Given the description of an element on the screen output the (x, y) to click on. 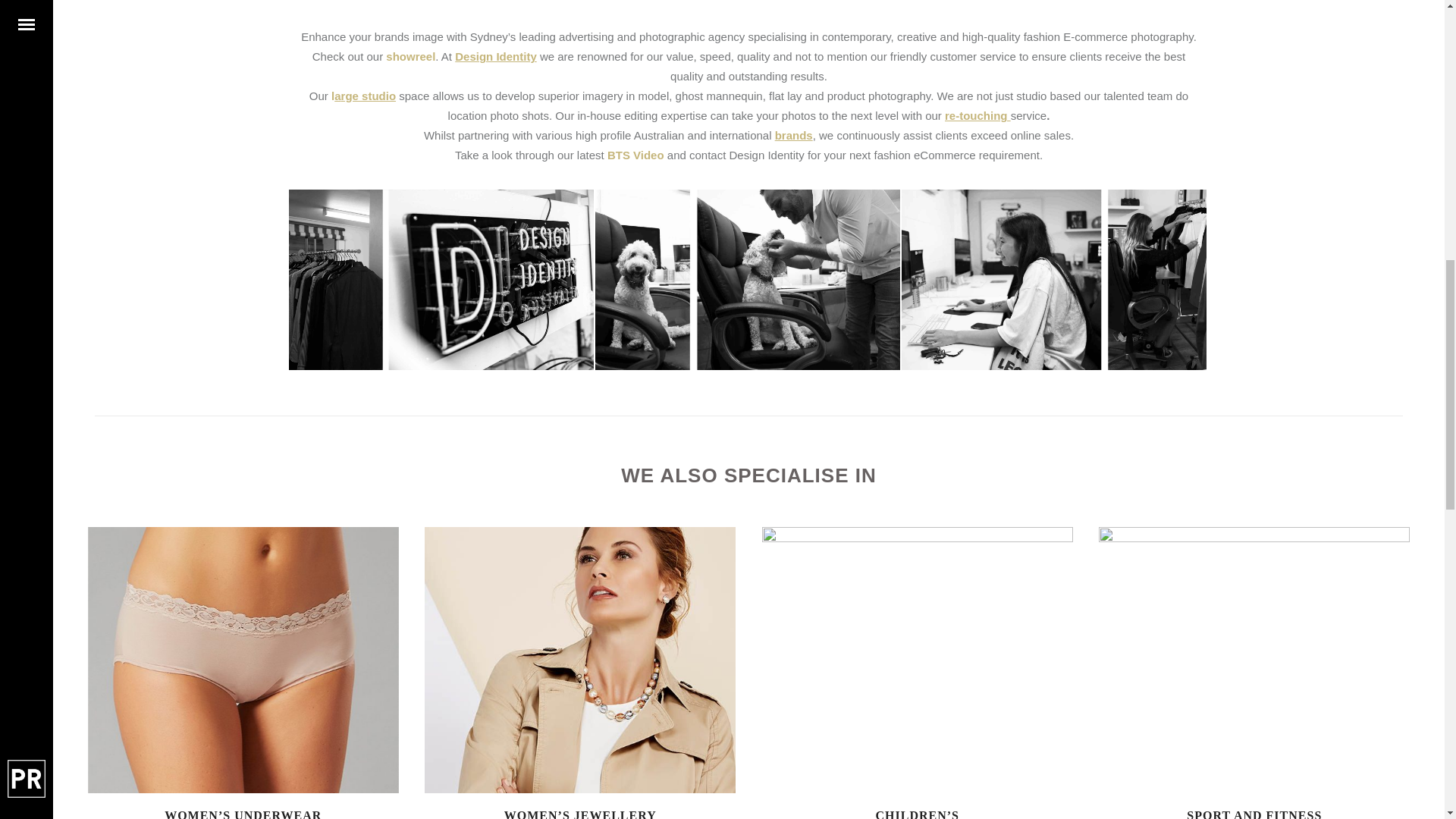
showreel (410, 56)
Design Identity (495, 56)
